Given the description of an element on the screen output the (x, y) to click on. 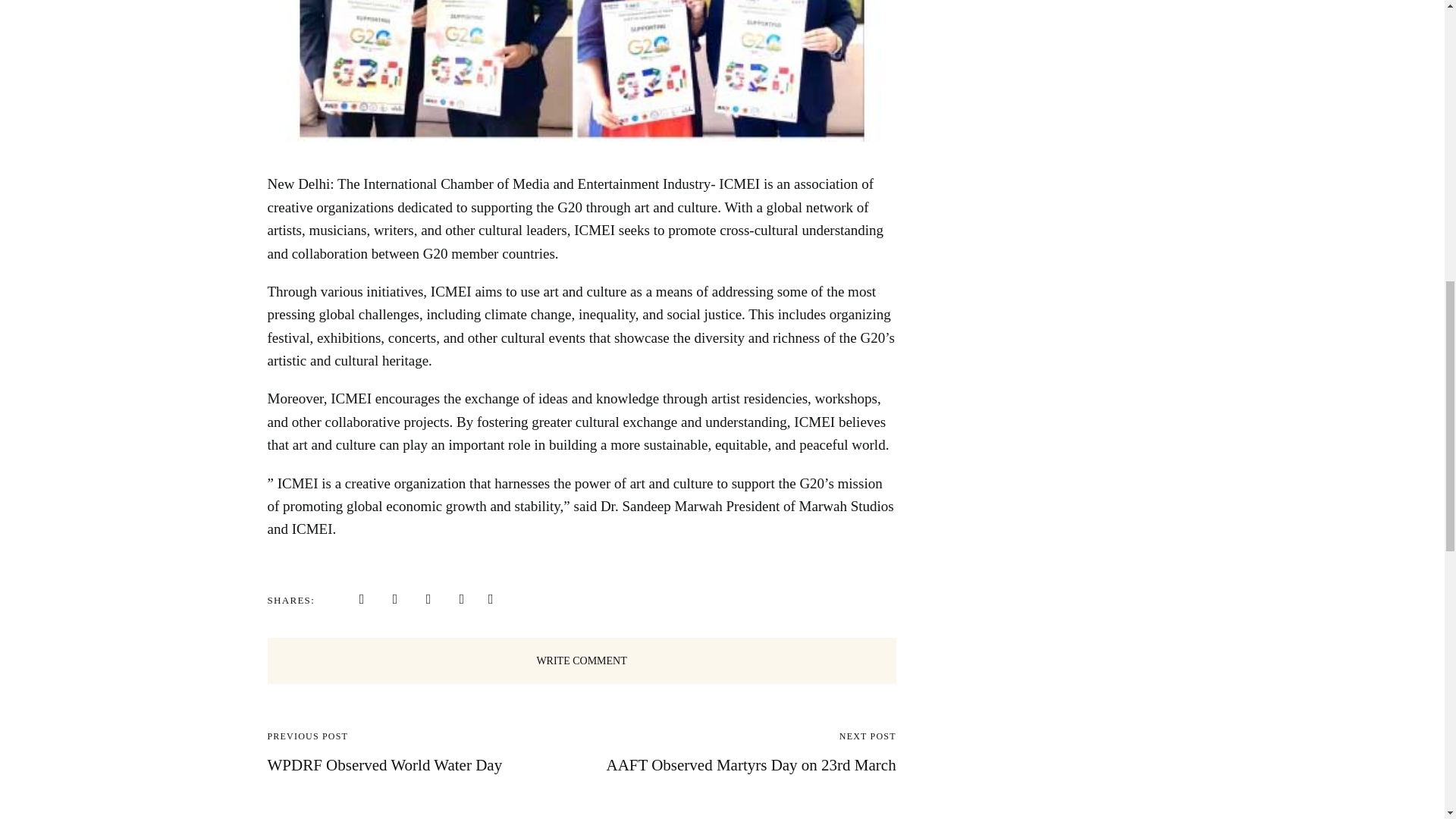
Facebook (361, 599)
Twitter (394, 599)
Email (461, 599)
Pinterest (428, 599)
